Given the description of an element on the screen output the (x, y) to click on. 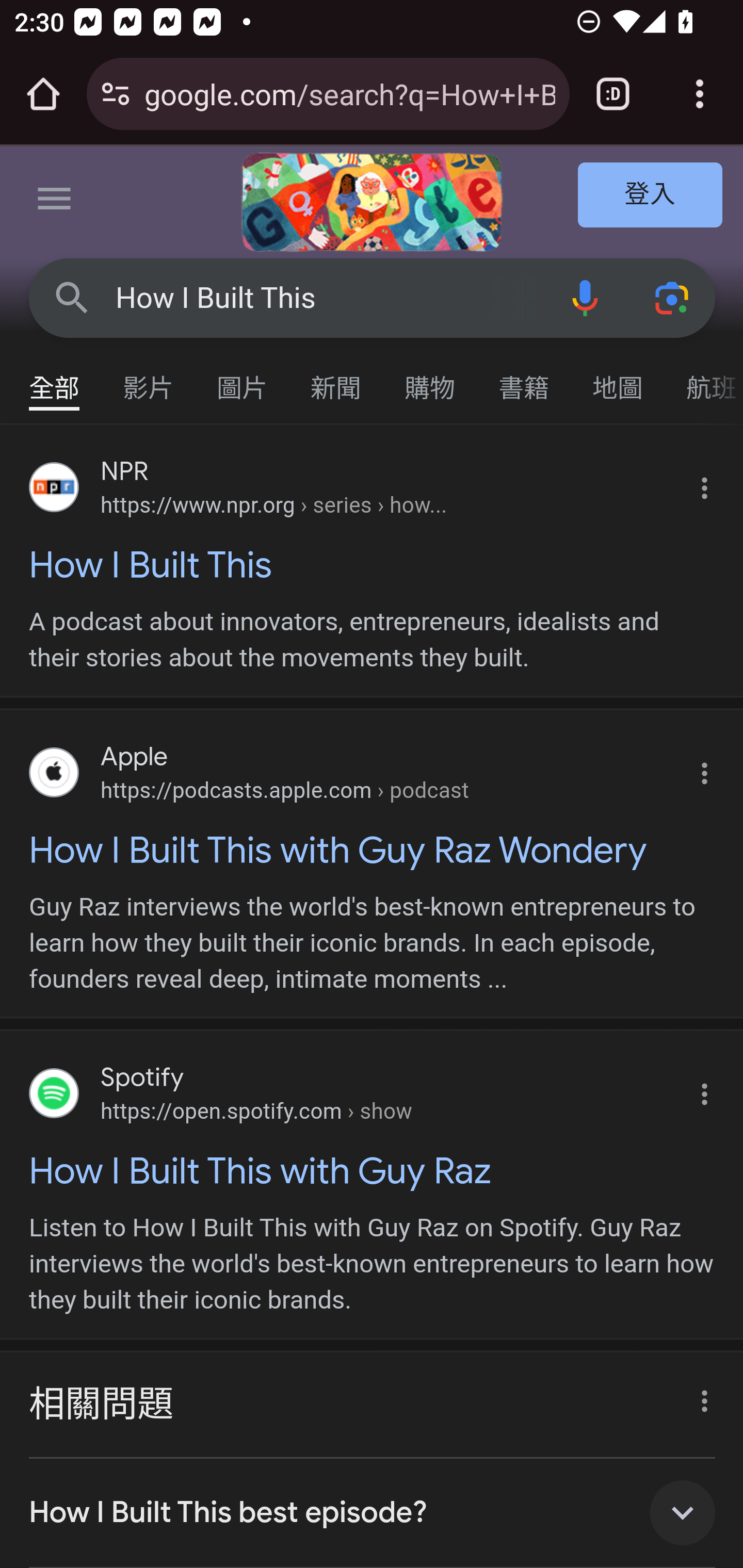
Open the home page (43, 93)
Connection is secure (115, 93)
Switch or close tabs (612, 93)
Customize and control Google Chrome (699, 93)
2024 年國際婦女節 (371, 202)
主選單 (54, 202)
登入 (650, 195)
Google 搜尋 (71, 296)
使用相機或相片搜尋 (672, 296)
How I Built This (328, 297)
影片 (148, 378)
圖片 (242, 378)
新聞 (336, 378)
購物 (430, 378)
書籍 (524, 378)
地圖 (618, 378)
航班 (703, 378)
How I Built This (372, 564)
How I Built This with Guy Raz Wondery (372, 849)
How I Built This with Guy Raz (372, 1170)
關於此結果 (698, 1395)
How I Built This best episode? (372, 1512)
